Given the description of an element on the screen output the (x, y) to click on. 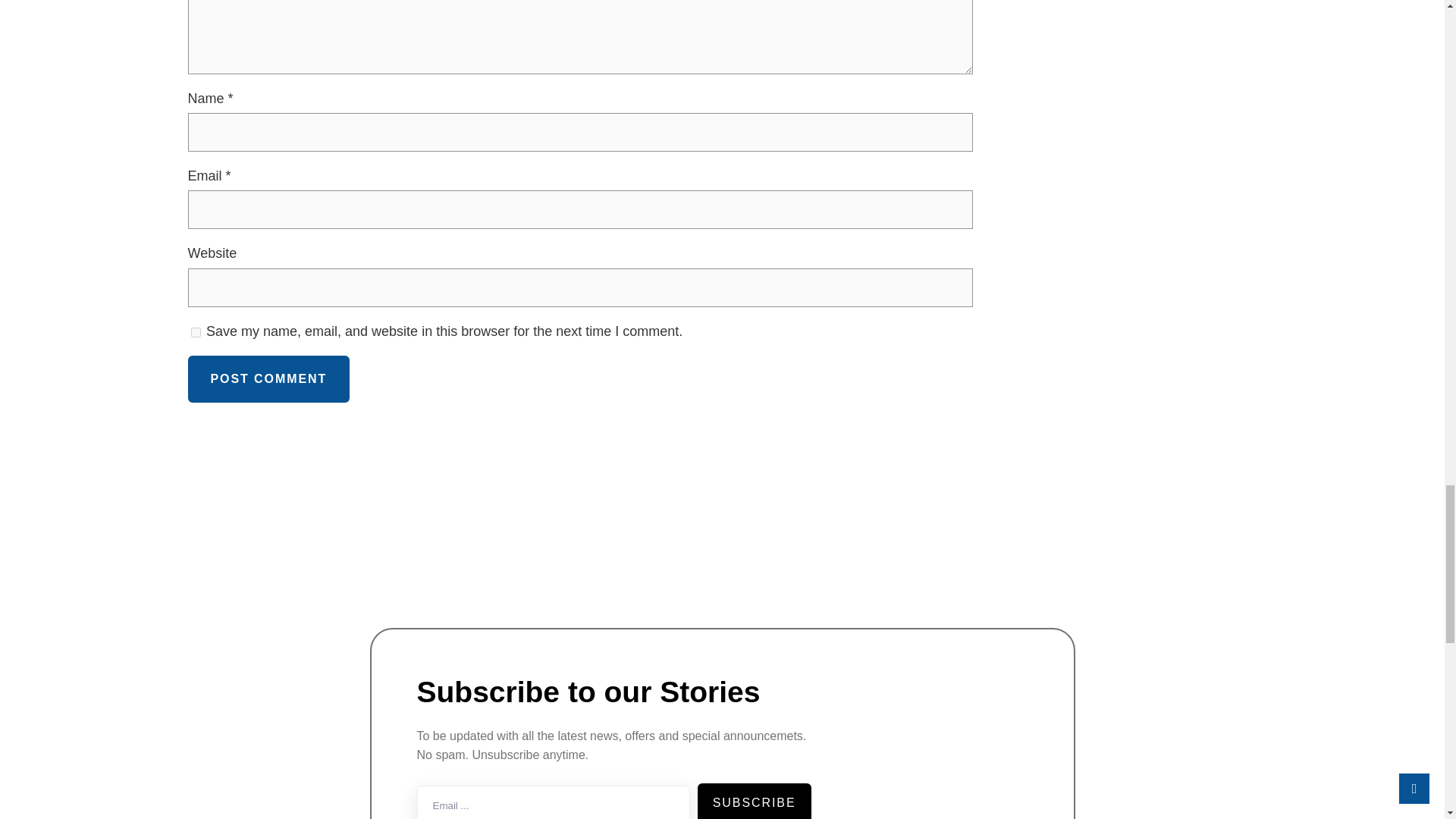
Post Comment (268, 378)
Post Comment (268, 378)
Subscribe (753, 800)
